Given the description of an element on the screen output the (x, y) to click on. 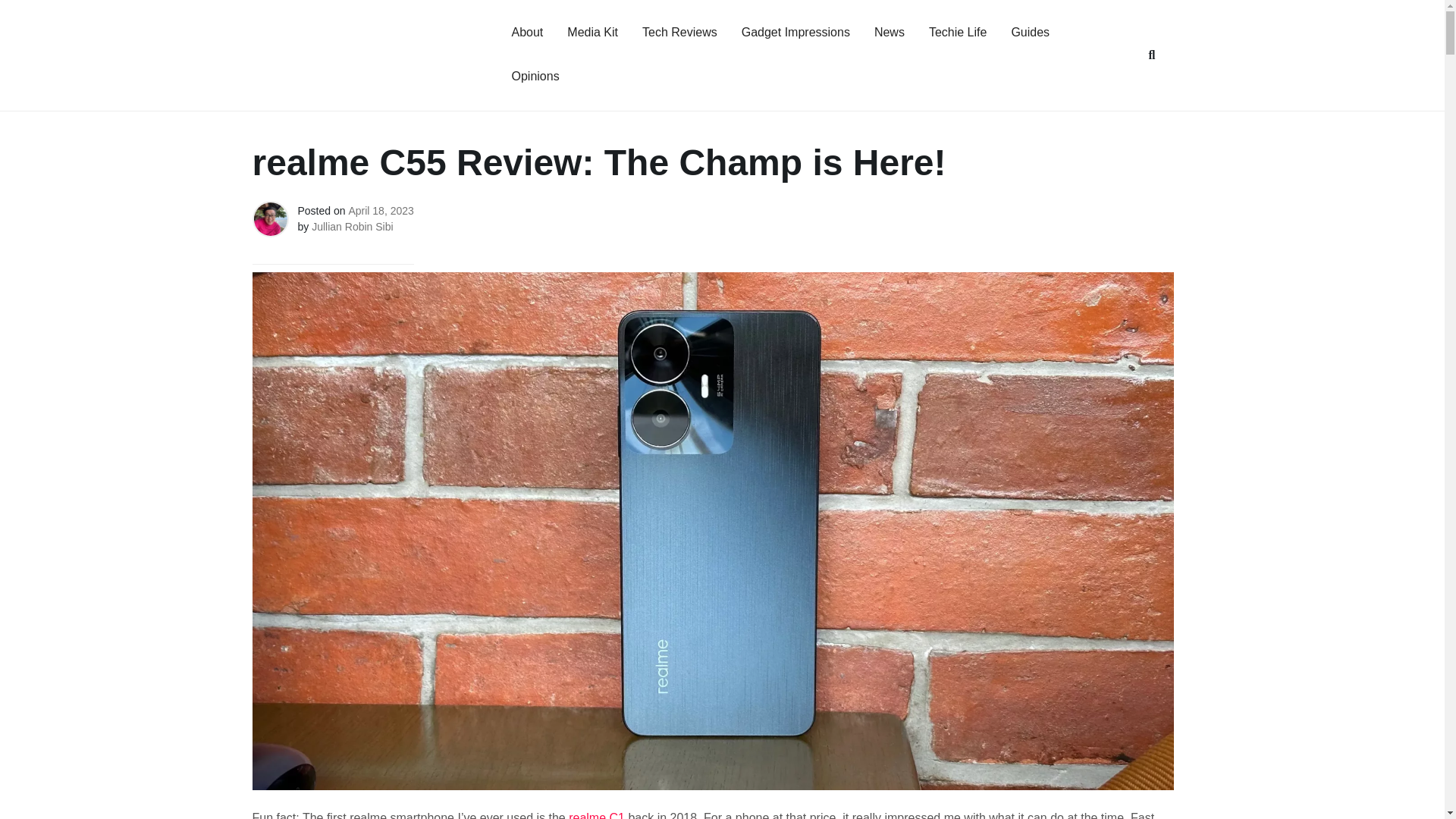
About (526, 33)
Gadget Impressions (795, 33)
Techie Life (957, 33)
Jullian Robin Sibi (352, 226)
Guides (1029, 33)
April 18, 2023 (380, 210)
News (889, 33)
Utterly Techie (295, 77)
Opinions (534, 77)
Tech Reviews (679, 33)
realme C1 (596, 815)
Media Kit (592, 33)
